Given the description of an element on the screen output the (x, y) to click on. 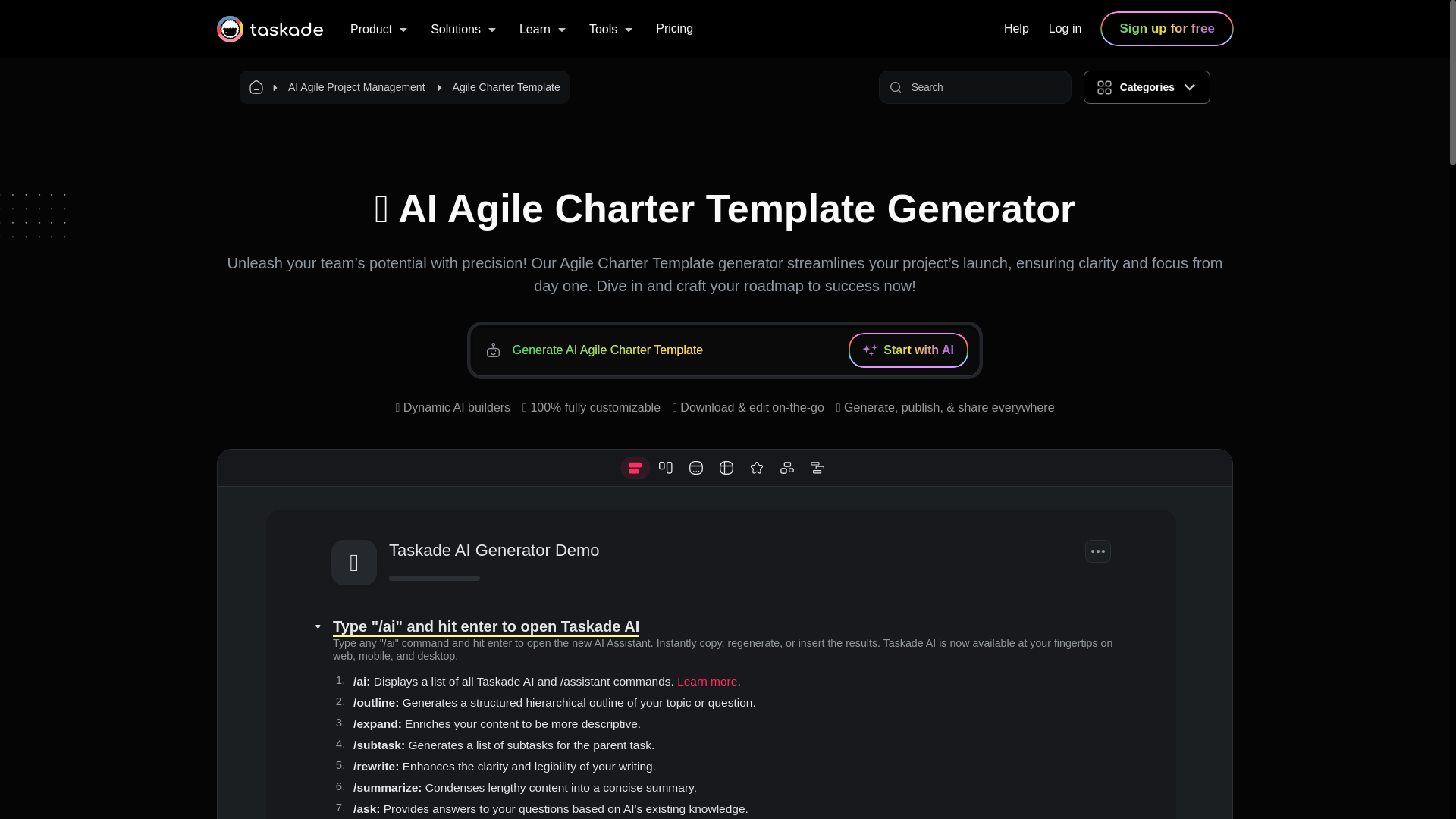
AI Agile Project Management (356, 87)
Pricing (674, 28)
Help (1016, 28)
Log in (1064, 28)
Taskade (269, 28)
Start with AI (908, 349)
Sign up for free (1166, 28)
